Given the description of an element on the screen output the (x, y) to click on. 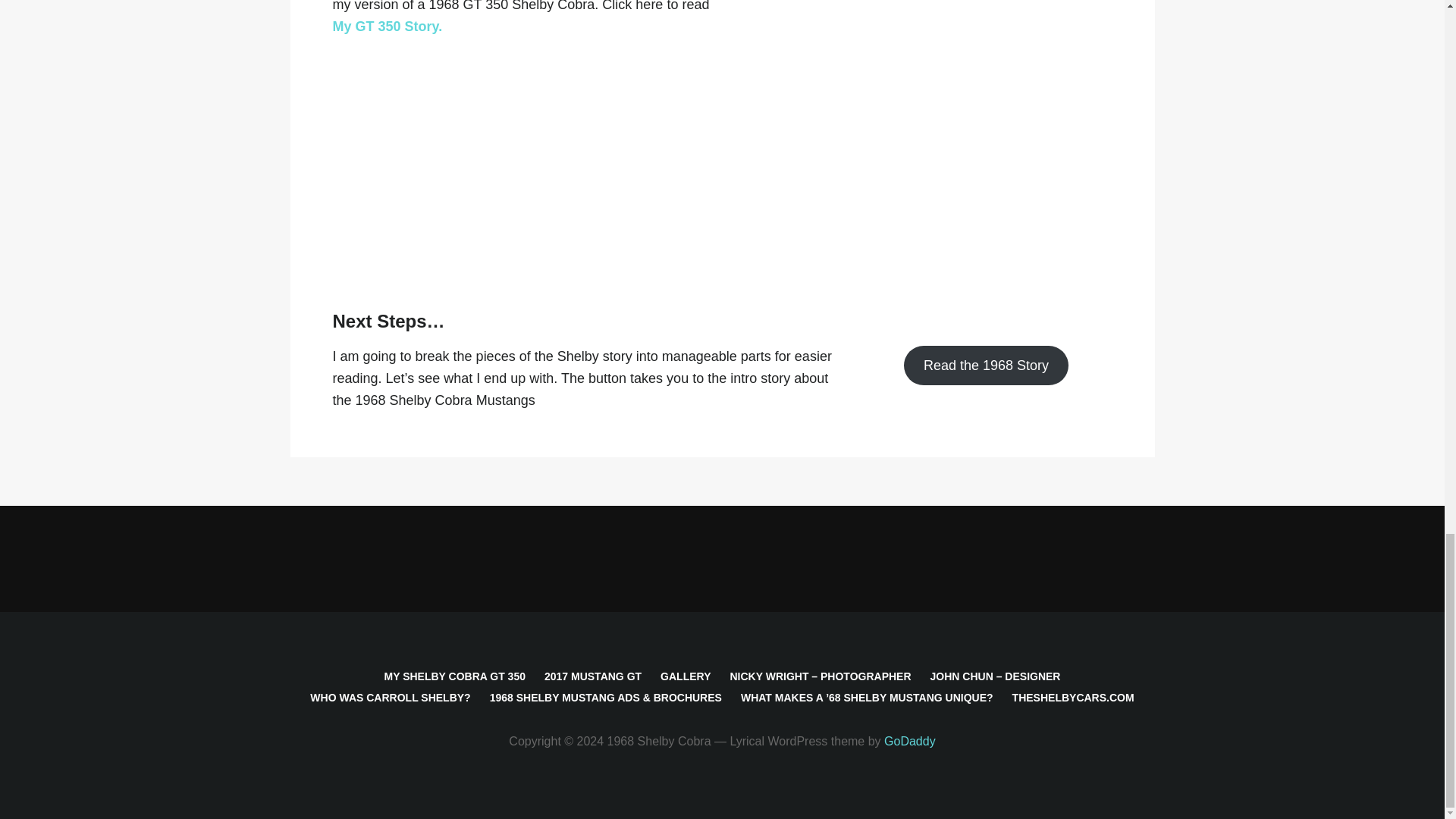
THESHELBYCARS.COM (1072, 697)
GALLERY (685, 676)
WHO WAS CARROLL SHELBY? (390, 697)
Read the 1968 Story (986, 364)
My GT 350 Story. (386, 26)
GoDaddy (909, 740)
2017 MUSTANG GT (593, 676)
MY SHELBY COBRA GT 350 (454, 676)
